Given the description of an element on the screen output the (x, y) to click on. 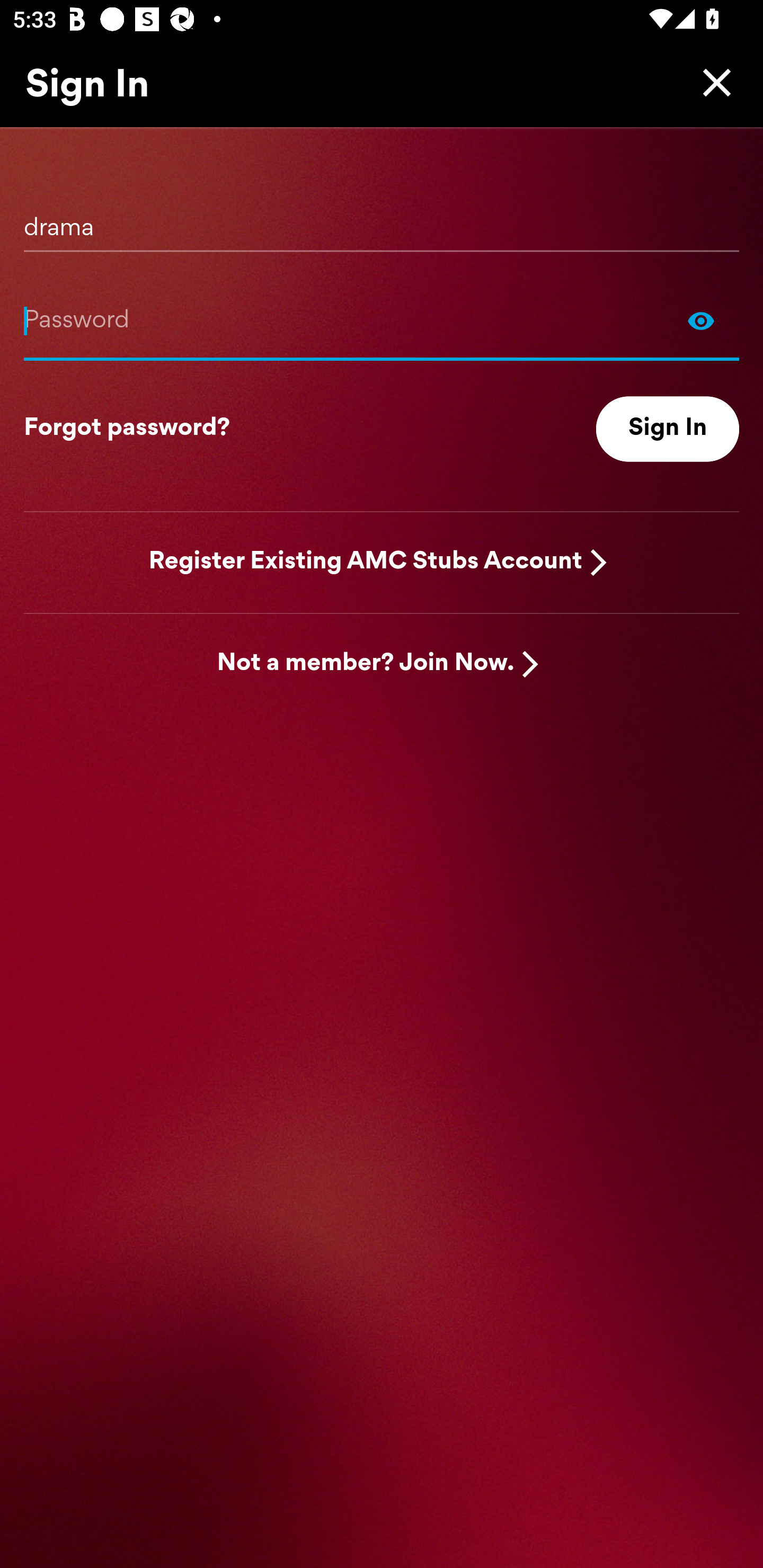
Close (712, 82)
drama (381, 220)
Show Password (381, 320)
Show Password (701, 320)
Forgot password? (126, 428)
Sign In (667, 428)
Register Existing AMC Stubs Account (365, 561)
Not a member? Join Now. (365, 663)
